Given the description of an element on the screen output the (x, y) to click on. 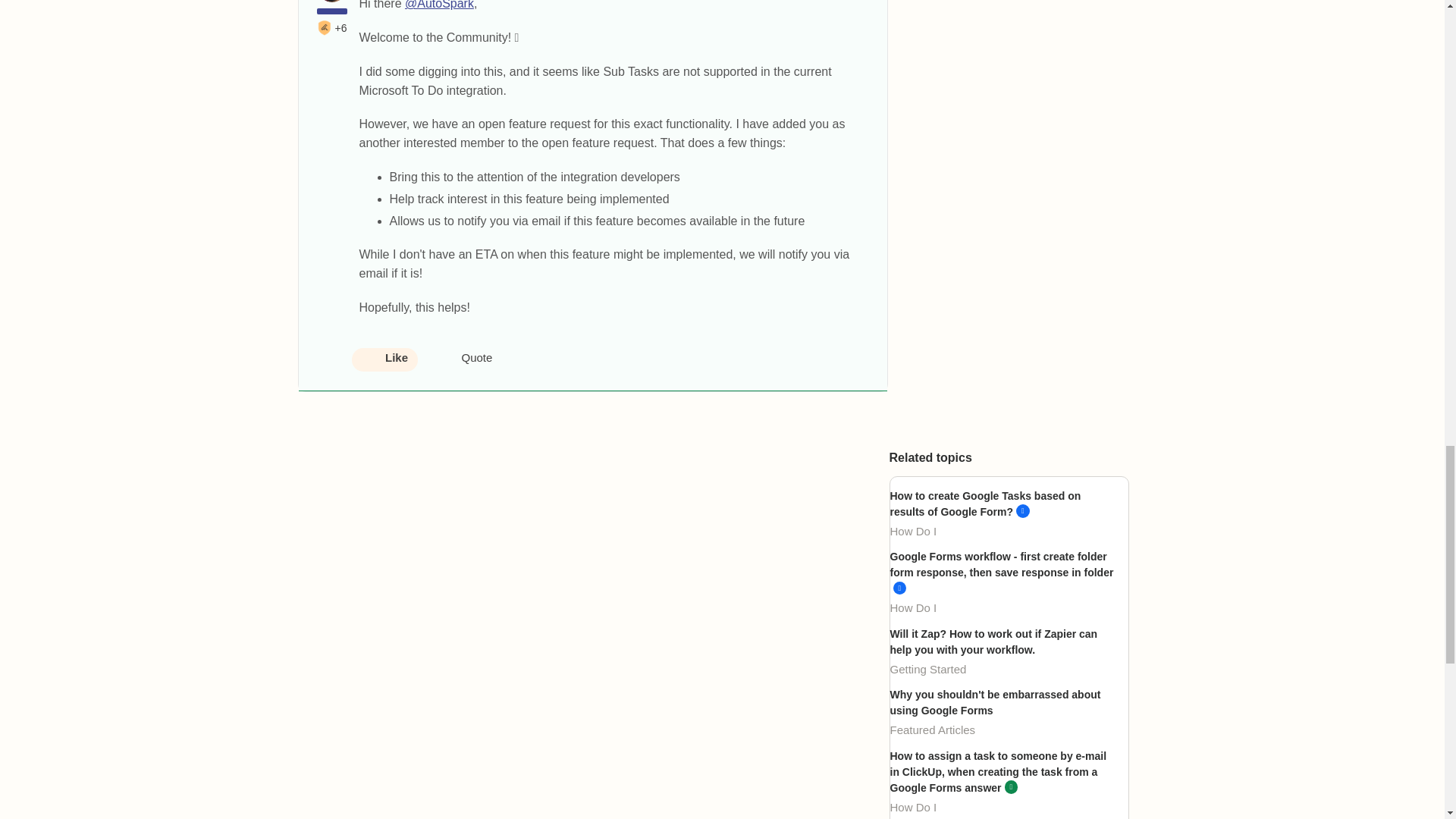
First Best Answer (324, 28)
